Given the description of an element on the screen output the (x, y) to click on. 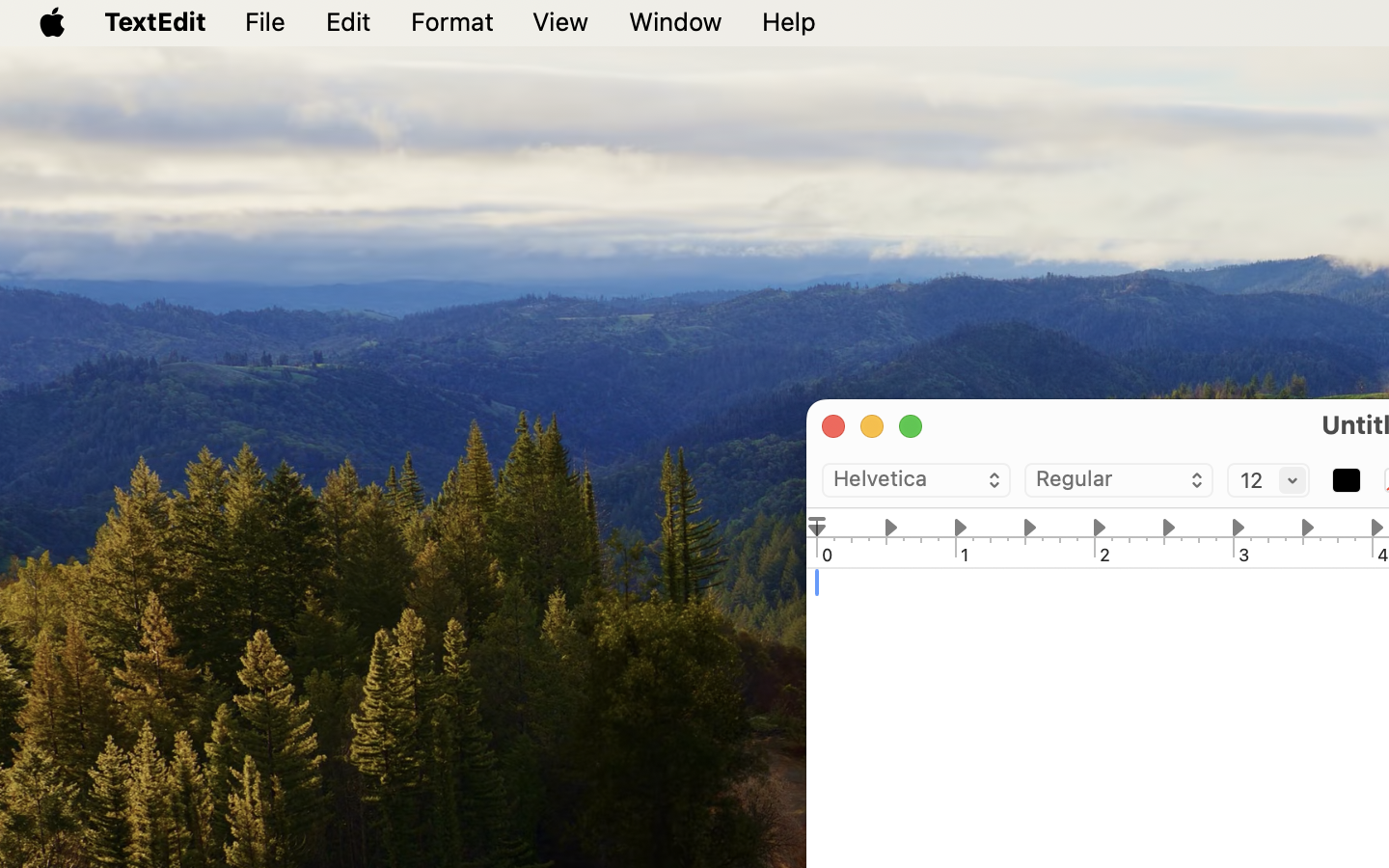
0.0 Element type: AXRulerMarker (816, 526)
rgb 0 0 0 1 Element type: AXColorWell (1346, 481)
12 Element type: AXComboBox (1268, 481)
Helvetica Element type: AXPopUpButton (915, 481)
Regular Element type: AXPopUpButton (1118, 481)
